Given the description of an element on the screen output the (x, y) to click on. 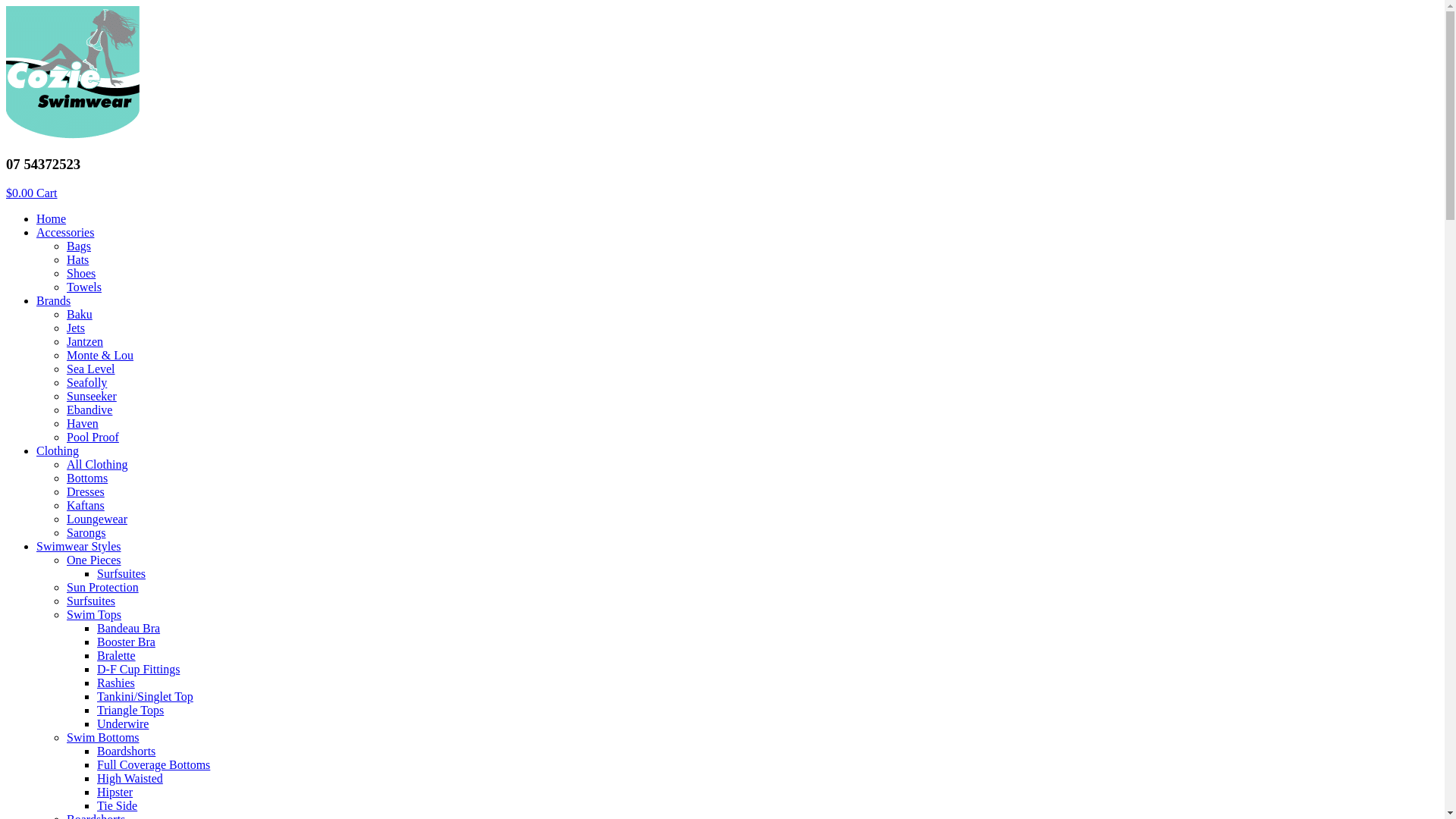
Triangle Tops Element type: text (130, 709)
Dresses Element type: text (85, 491)
D-F Cup Fittings Element type: text (138, 668)
All Clothing Element type: text (96, 464)
Bandeau Bra Element type: text (128, 627)
Skip to content Element type: text (5, 5)
Underwire Element type: text (122, 723)
Tankini/Singlet Top Element type: text (145, 696)
Bralette Element type: text (116, 655)
Pool Proof Element type: text (92, 436)
Hipster Element type: text (114, 791)
High Waisted Element type: text (130, 777)
Seafolly Element type: text (86, 382)
brand-cozie-swimwear Element type: hover (72, 72)
Booster Bra Element type: text (126, 641)
Surfsuites Element type: text (90, 600)
Surfsuites Element type: text (121, 573)
Sun Protection Element type: text (102, 586)
Baku Element type: text (79, 313)
Brands Element type: text (53, 300)
Monte & Lou Element type: text (99, 354)
Sea Level Element type: text (90, 368)
Kaftans Element type: text (85, 504)
Bottoms Element type: text (86, 477)
Clothing Element type: text (57, 450)
Ebandive Element type: text (89, 409)
$0.00 Cart Element type: text (31, 192)
Rashies Element type: text (115, 682)
Full Coverage Bottoms Element type: text (153, 764)
Loungewear Element type: text (96, 518)
One Pieces Element type: text (93, 559)
Hats Element type: text (77, 259)
Accessories Element type: text (65, 231)
Home Element type: text (50, 218)
Sarongs Element type: text (86, 532)
Jets Element type: text (75, 327)
Haven Element type: text (82, 423)
Swim Bottoms Element type: text (102, 737)
Shoes Element type: text (80, 272)
Towels Element type: text (83, 286)
Sunseeker Element type: text (91, 395)
Swimwear Styles Element type: text (78, 545)
Bags Element type: text (78, 245)
Tie Side Element type: text (117, 805)
Boardshorts Element type: text (126, 750)
Jantzen Element type: text (84, 341)
Swim Tops Element type: text (93, 614)
